Given the description of an element on the screen output the (x, y) to click on. 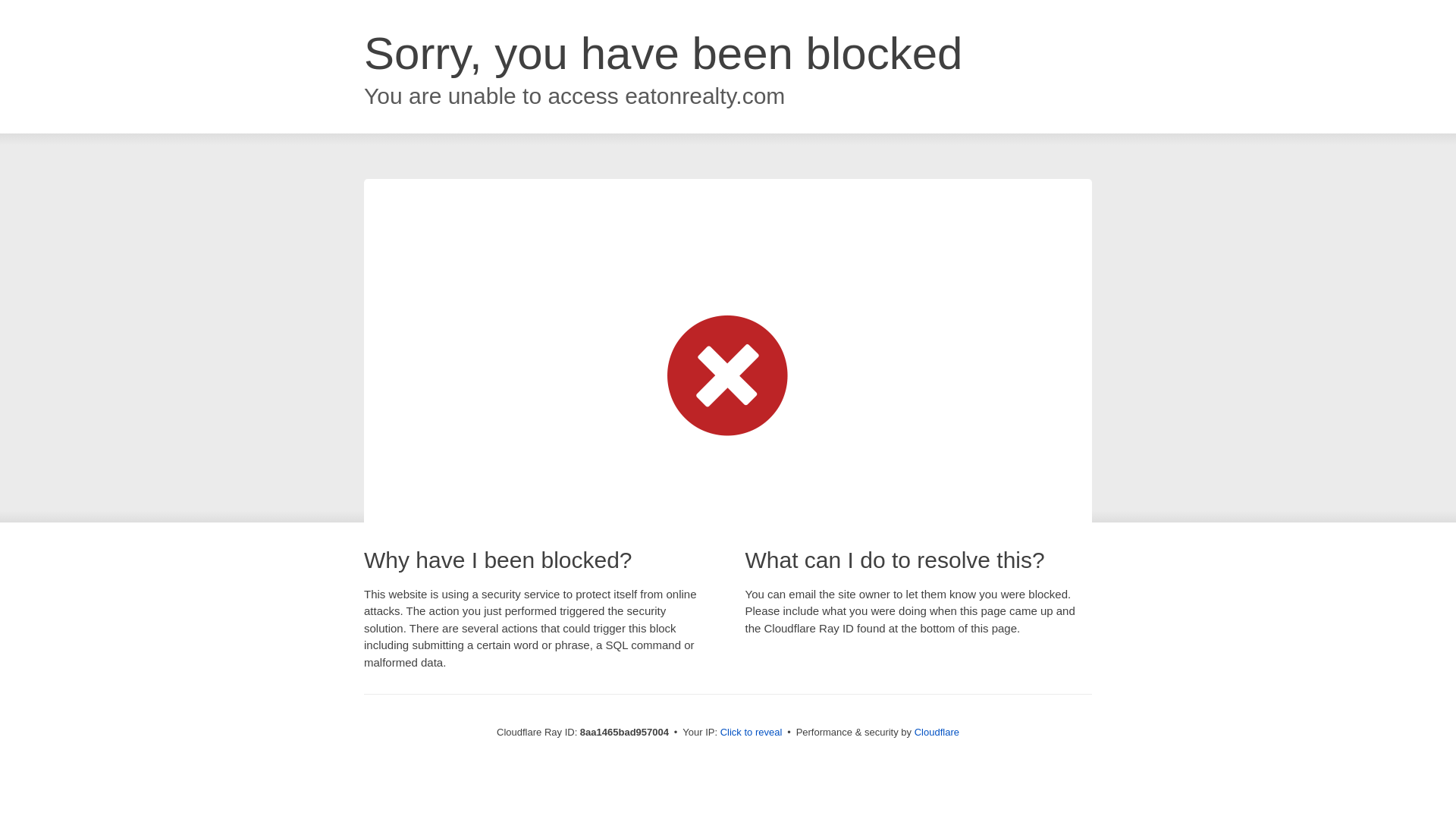
Click to reveal (751, 732)
Cloudflare (936, 731)
